Given the description of an element on the screen output the (x, y) to click on. 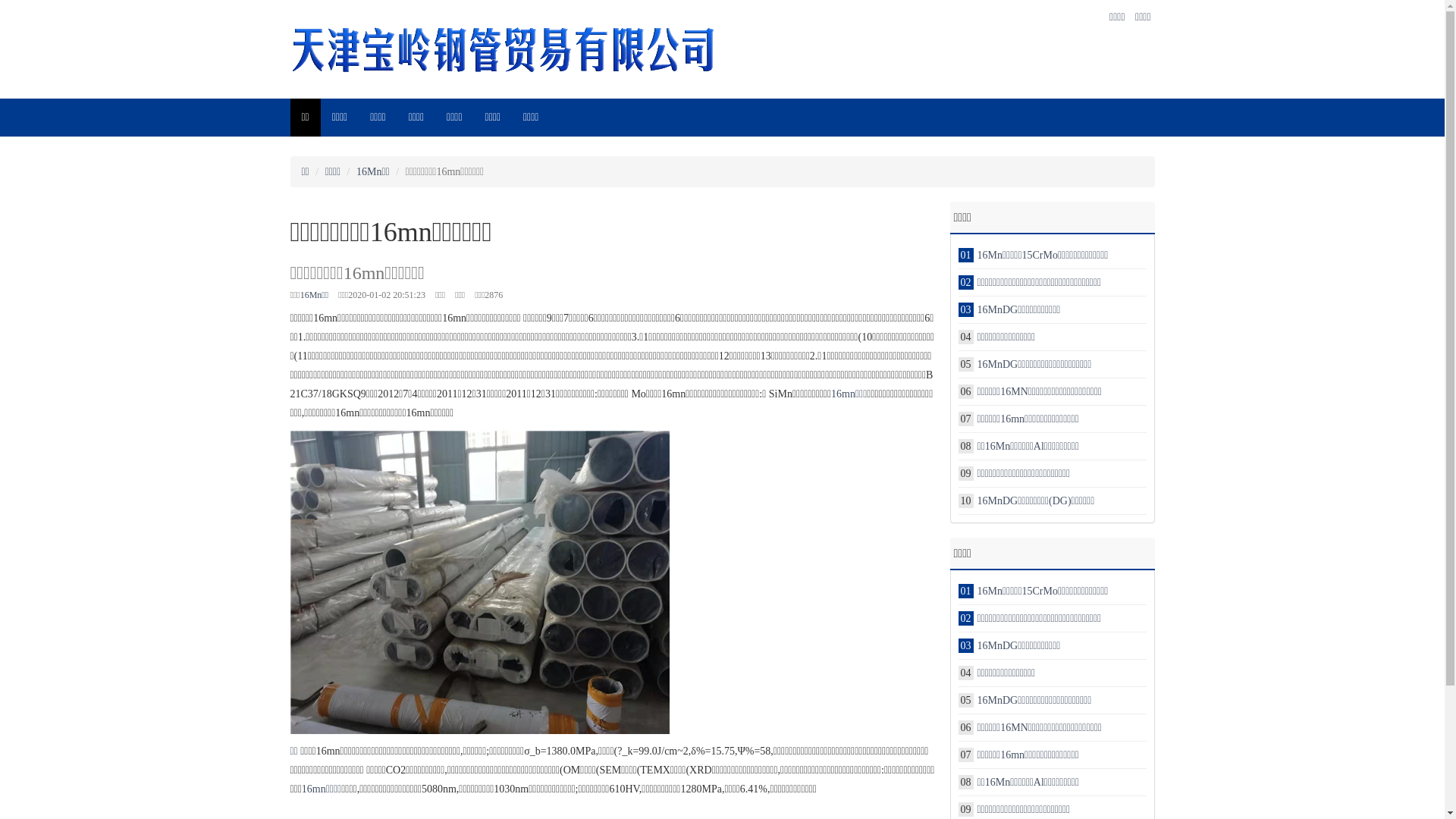
1577969480761347.jpg Element type: hover (478, 582)
